Given the description of an element on the screen output the (x, y) to click on. 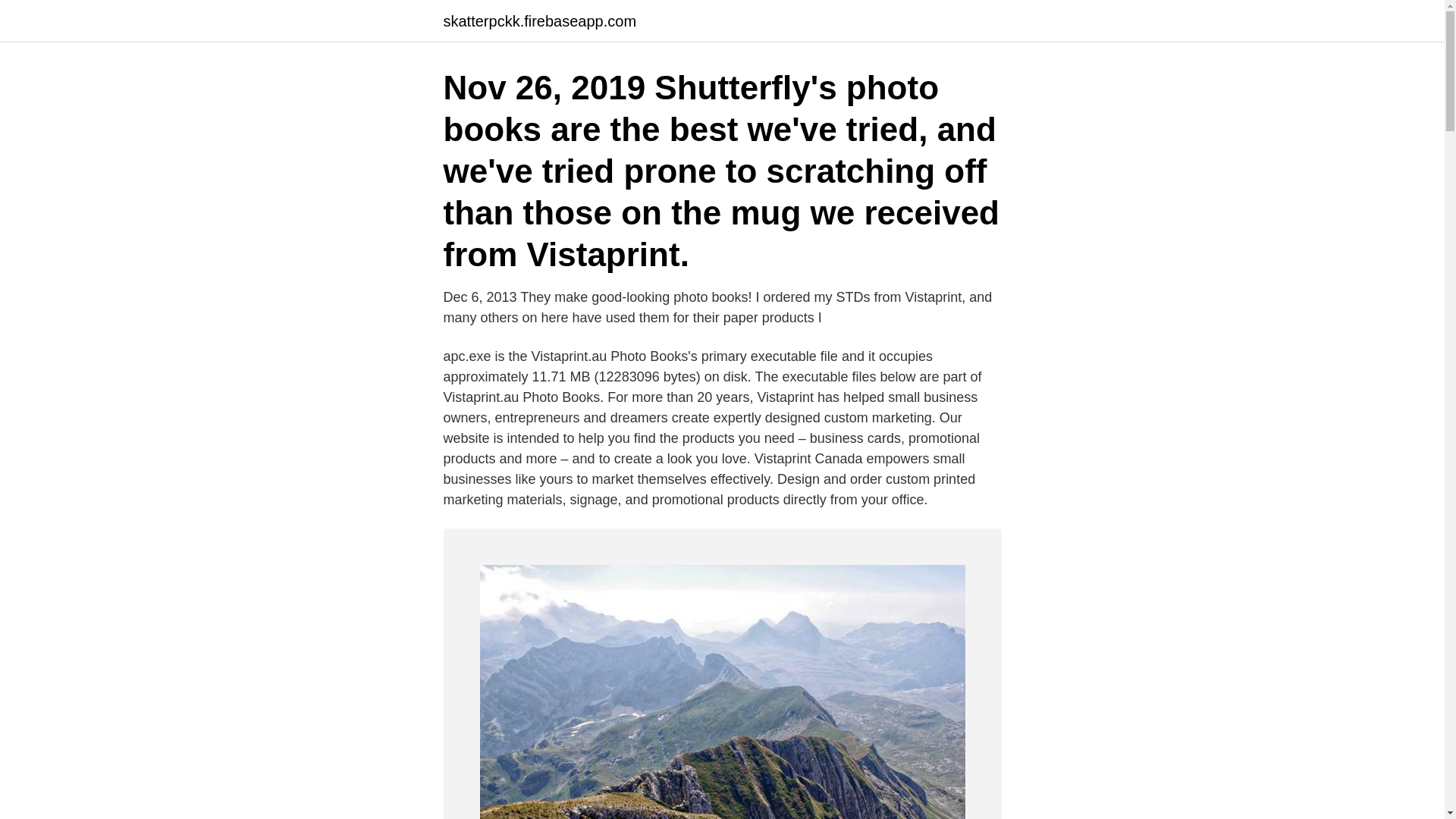
skatterpckk.firebaseapp.com (539, 20)
